Given the description of an element on the screen output the (x, y) to click on. 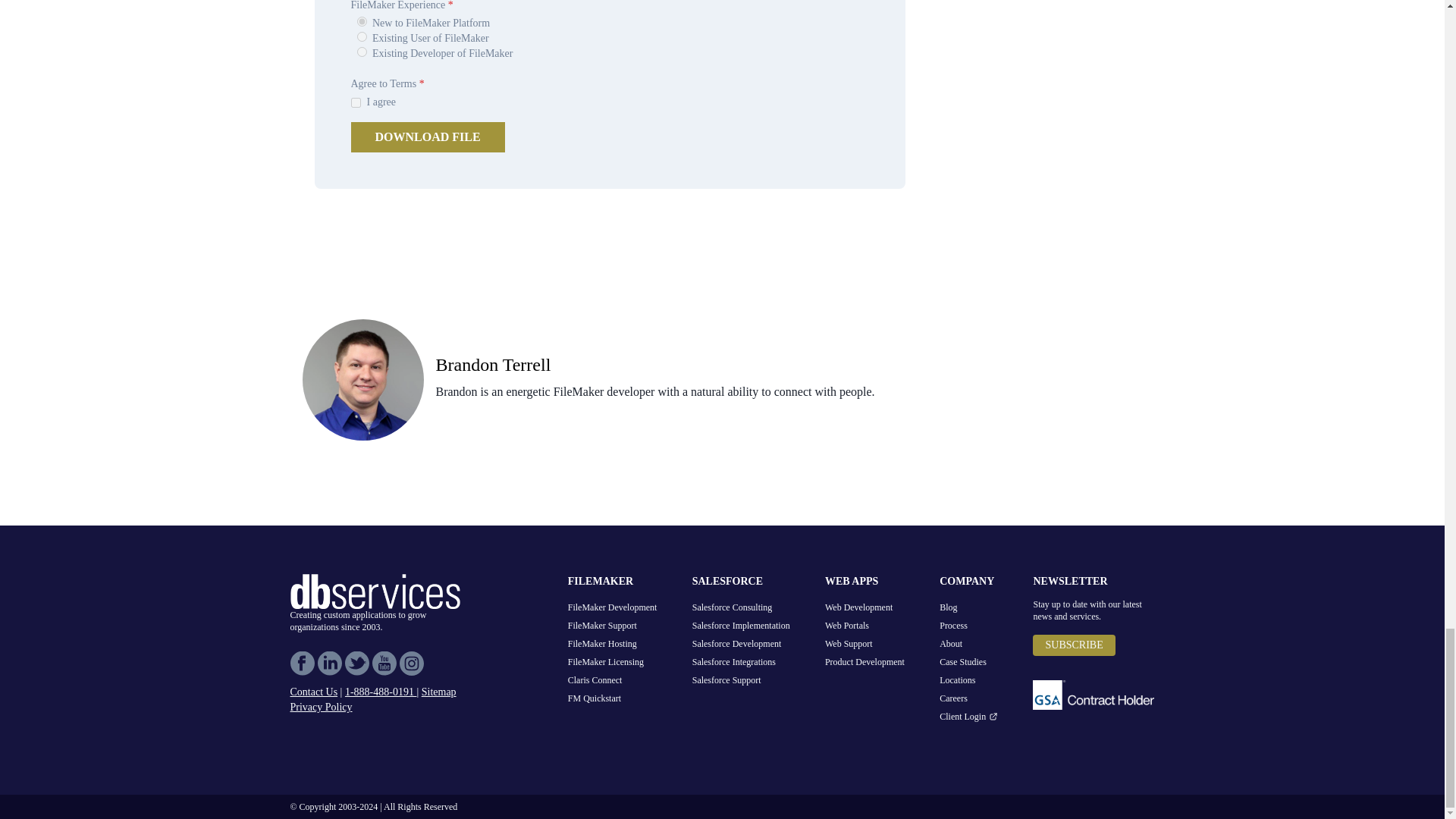
Existing User of FileMaker (361, 36)
Subscribe (1073, 645)
New to FileMaker Platform (361, 21)
yes (354, 102)
Existing Developer of FileMaker (361, 51)
